Given the description of an element on the screen output the (x, y) to click on. 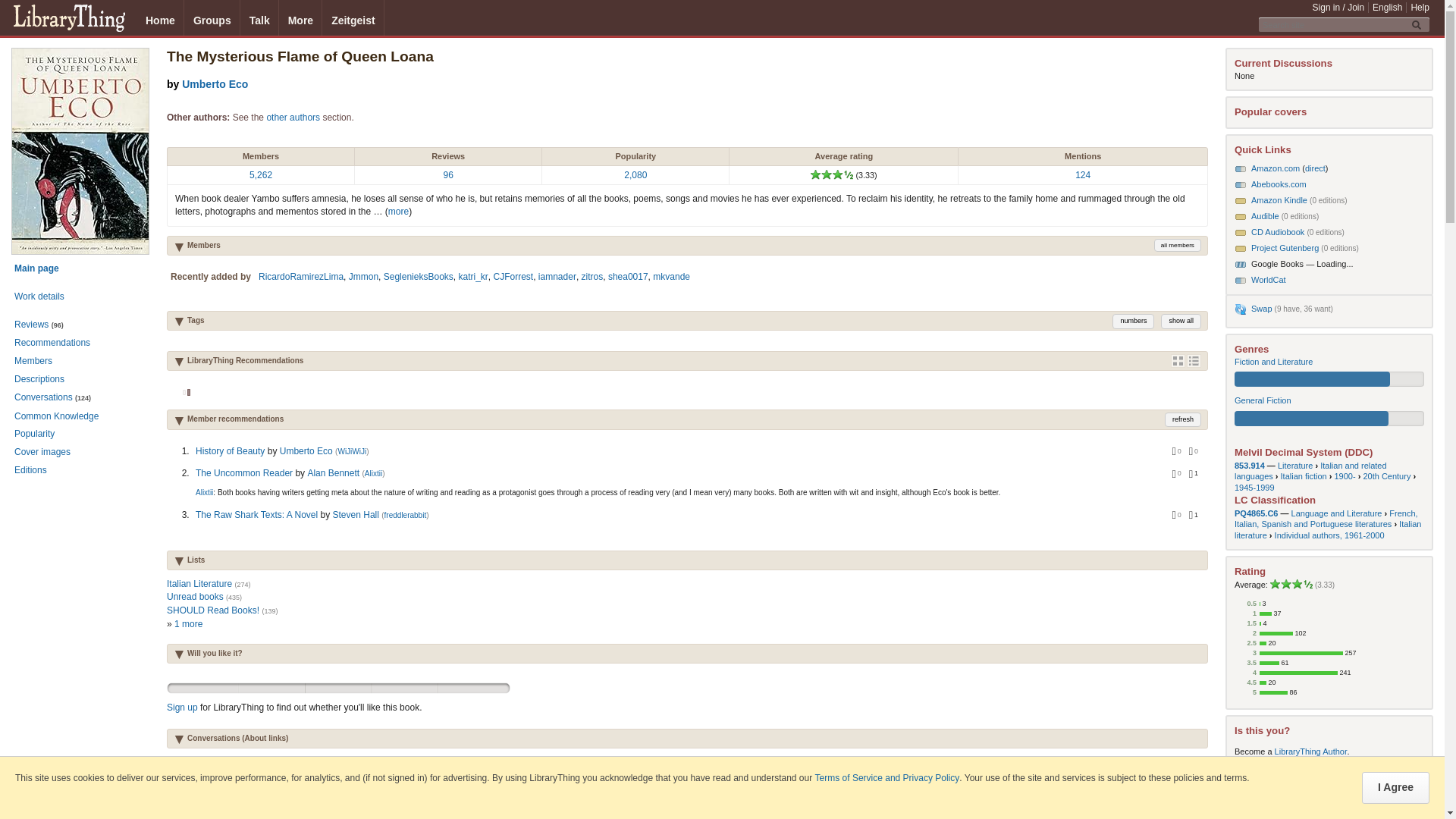
More (300, 18)
Home (160, 18)
Help (1419, 7)
Search Site (1417, 24)
English (1387, 7)
Zeitgeist (352, 18)
Groups (212, 18)
Talk (259, 18)
